Given the description of an element on the screen output the (x, y) to click on. 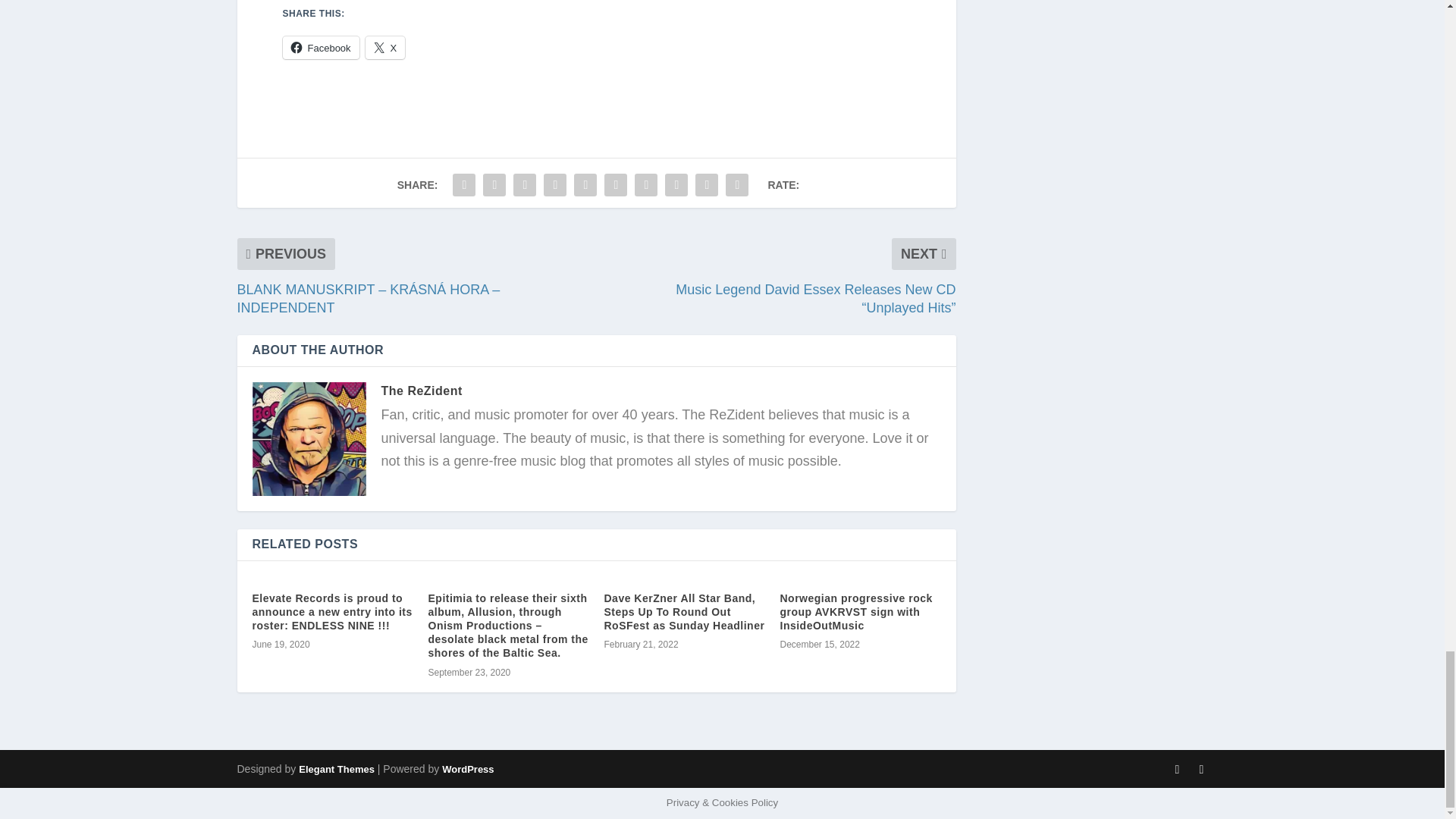
Click to share on Facebook (320, 47)
Click to share on X (385, 47)
Facebook (320, 47)
X (385, 47)
